Given the description of an element on the screen output the (x, y) to click on. 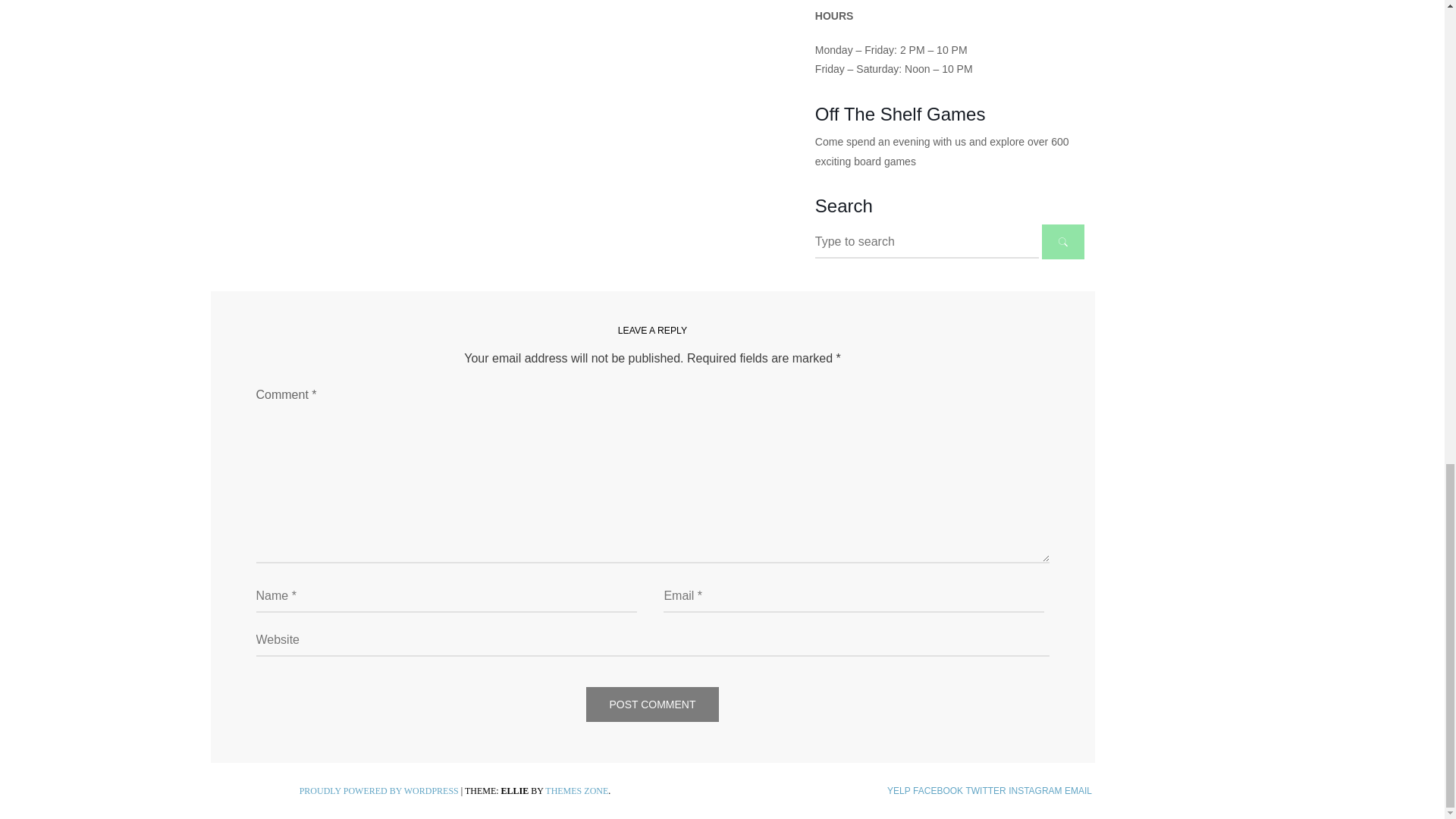
Post Comment (651, 704)
PROUDLY POWERED BY WORDPRESS (378, 790)
EMAIL (1078, 790)
YELP (898, 790)
Post Comment (651, 704)
INSTAGRAM (1035, 790)
TWITTER (985, 790)
THEMES ZONE (576, 790)
FACEBOOK (937, 790)
